Given the description of an element on the screen output the (x, y) to click on. 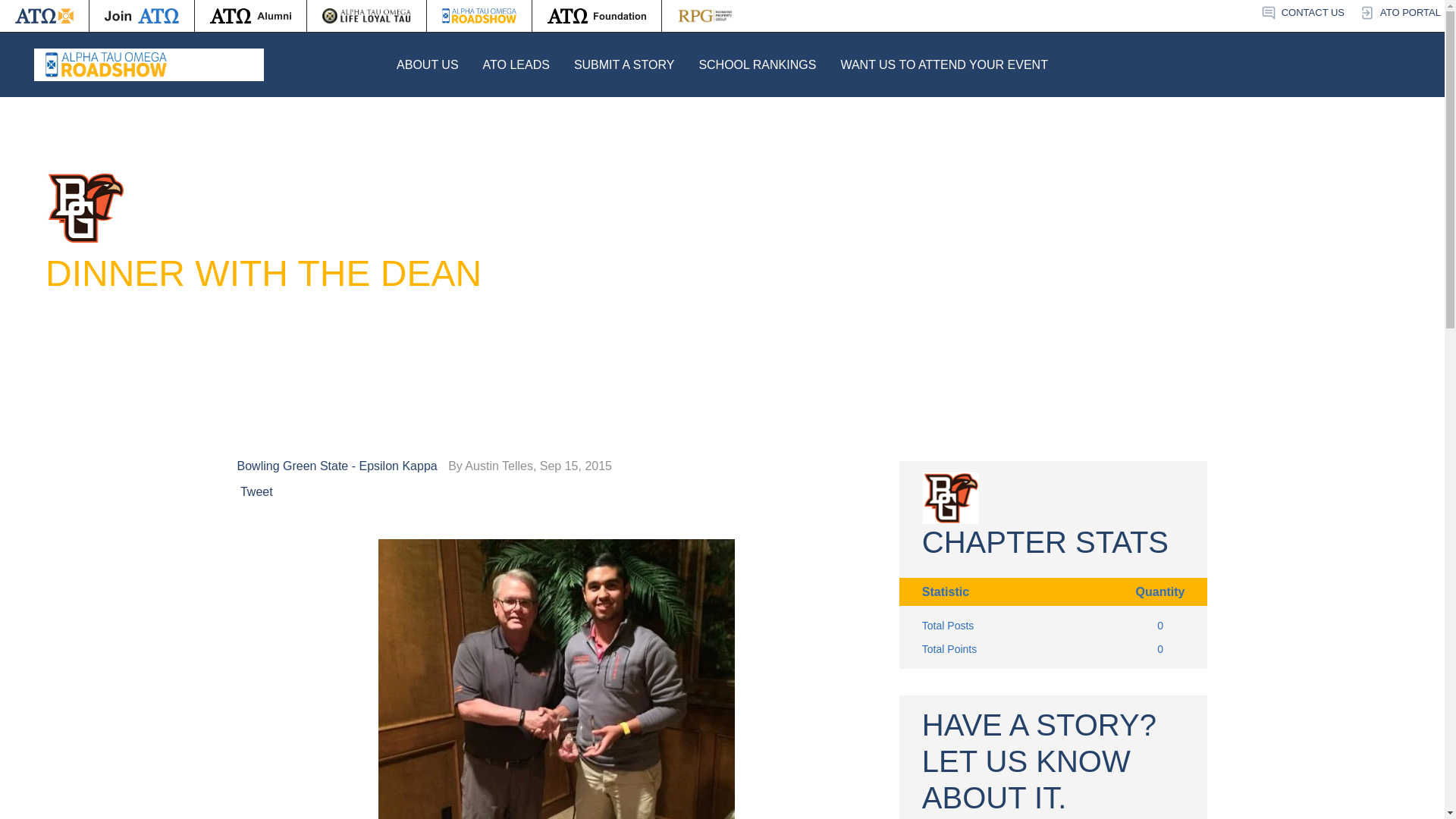
ABOUT US (427, 64)
Roadshow (478, 15)
Alumni (250, 15)
CONTACT US (1301, 13)
ATO LEADS (516, 64)
ATO Leads (516, 64)
Bowling Green State Epsilon Kappa (339, 465)
Want Us To Attend Your Event (944, 64)
RPG (705, 15)
Life Loyal Tau (366, 15)
